Given the description of an element on the screen output the (x, y) to click on. 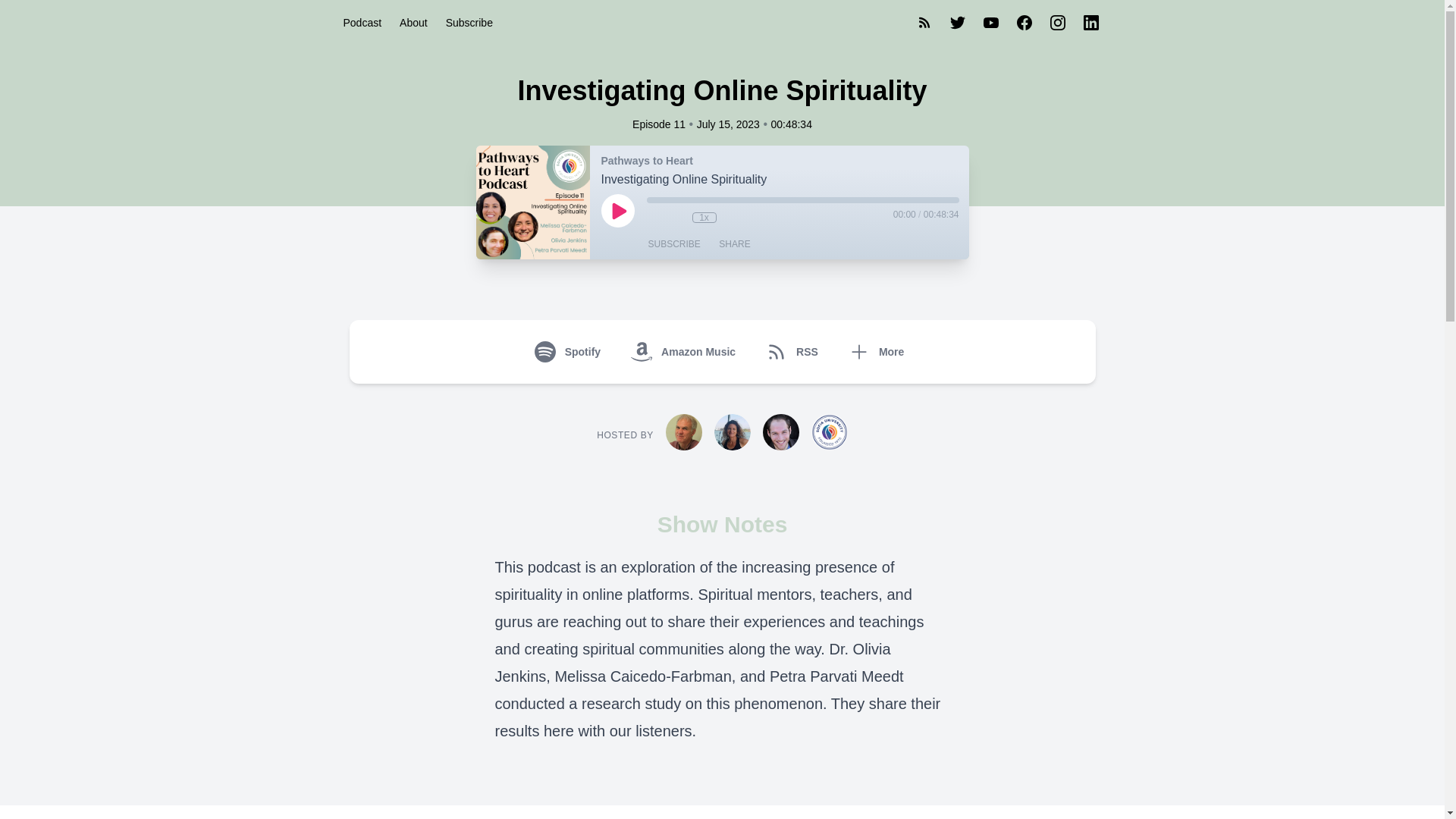
RSS (794, 351)
More (879, 351)
About (413, 22)
Spotify (570, 351)
SUBSCRIBE (673, 243)
Subscribe (469, 22)
Podcast (361, 22)
1x (703, 217)
Seek (802, 200)
Amazon Music (686, 351)
SHARE (734, 243)
